Given the description of an element on the screen output the (x, y) to click on. 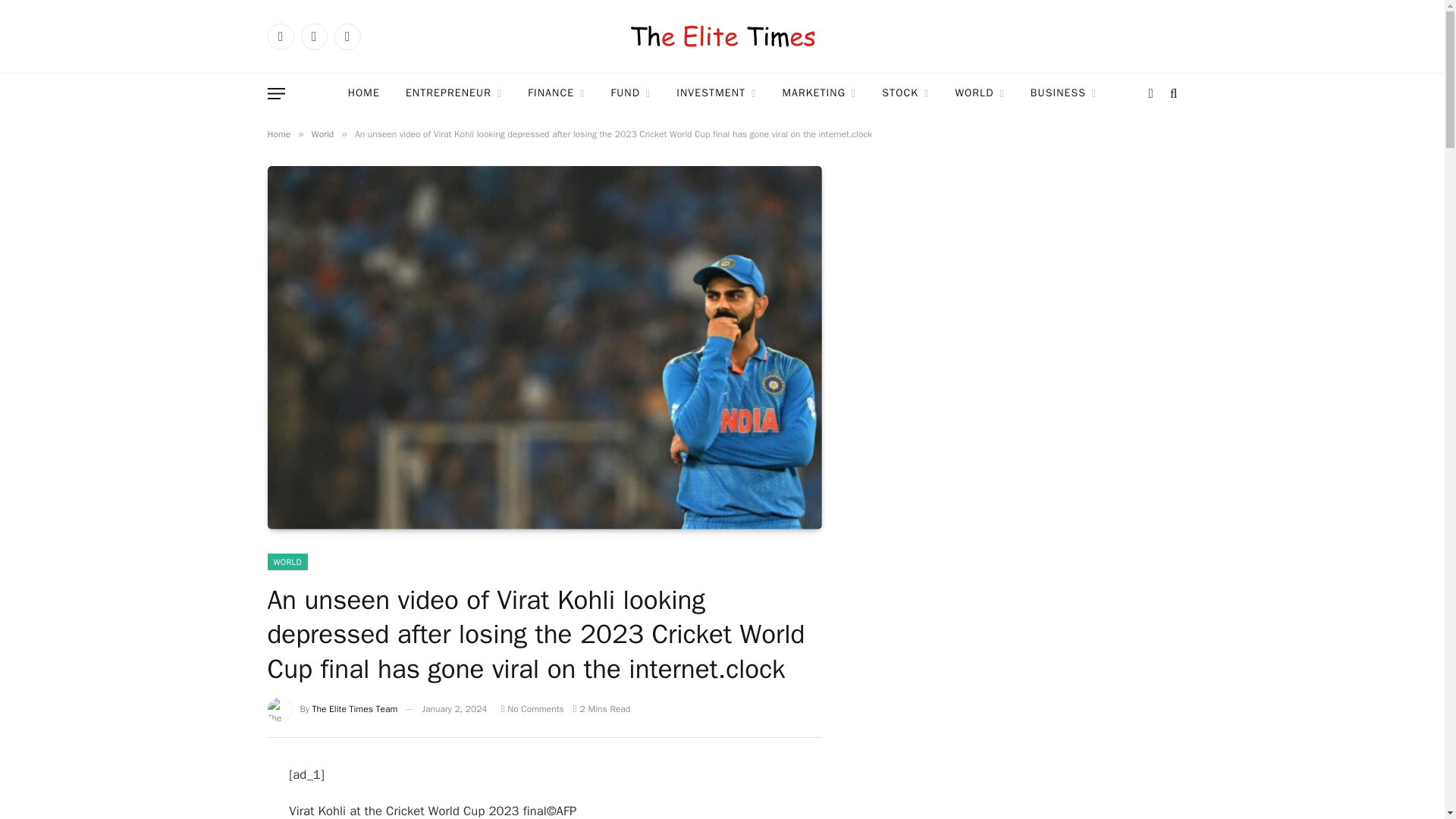
Instagram (346, 35)
ENTREPRENEUR (454, 93)
FINANCE (555, 93)
HOME (363, 93)
Facebook (280, 35)
The Elite Times (721, 36)
